Given the description of an element on the screen output the (x, y) to click on. 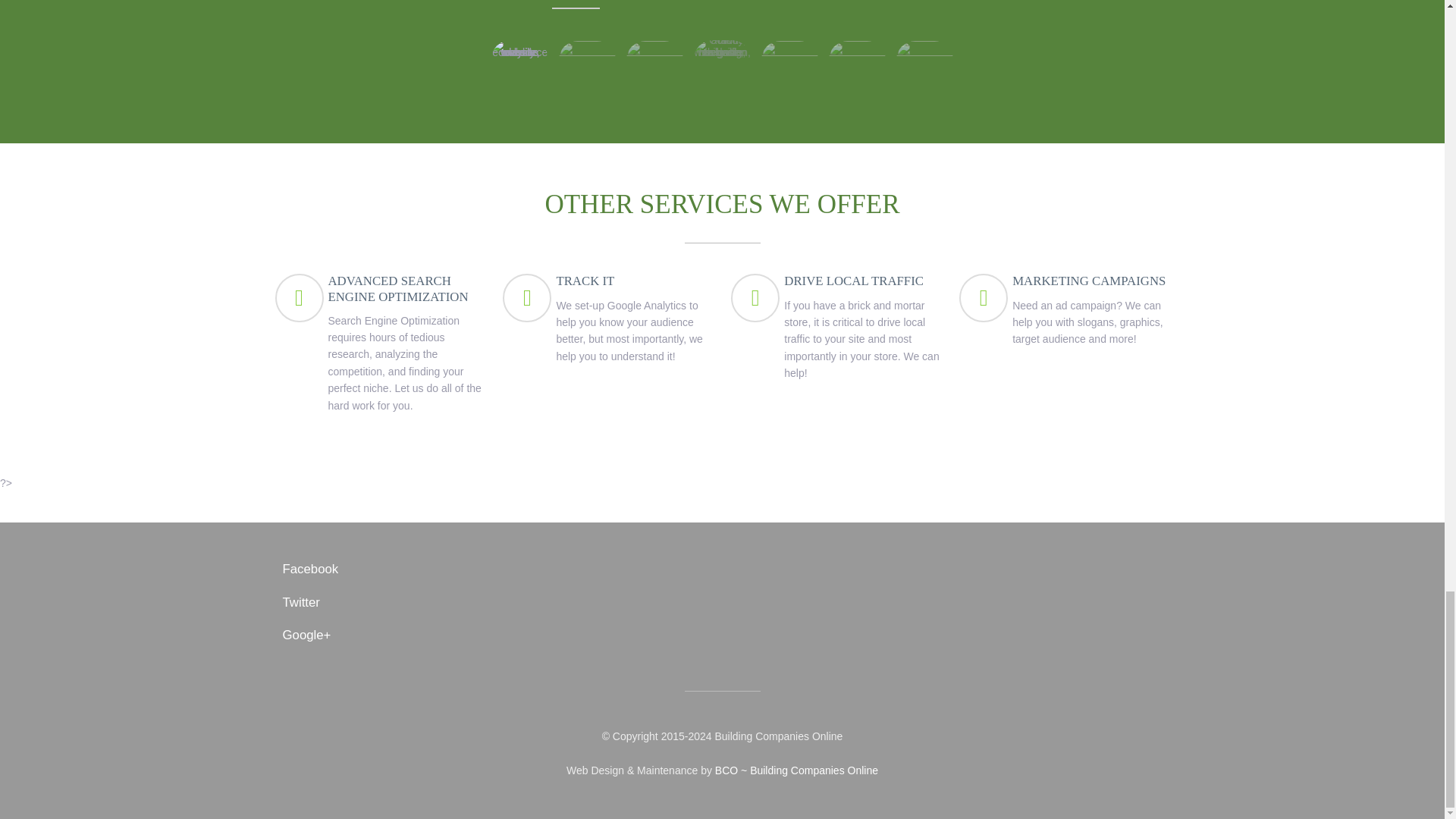
MARKETING CAMPAIGNS (1088, 280)
DRIVE LOCAL TRAFFIC (853, 280)
ADVANCED SEARCH ENGINE OPTIMIZATION (397, 288)
TRACK IT (585, 280)
